Given the description of an element on the screen output the (x, y) to click on. 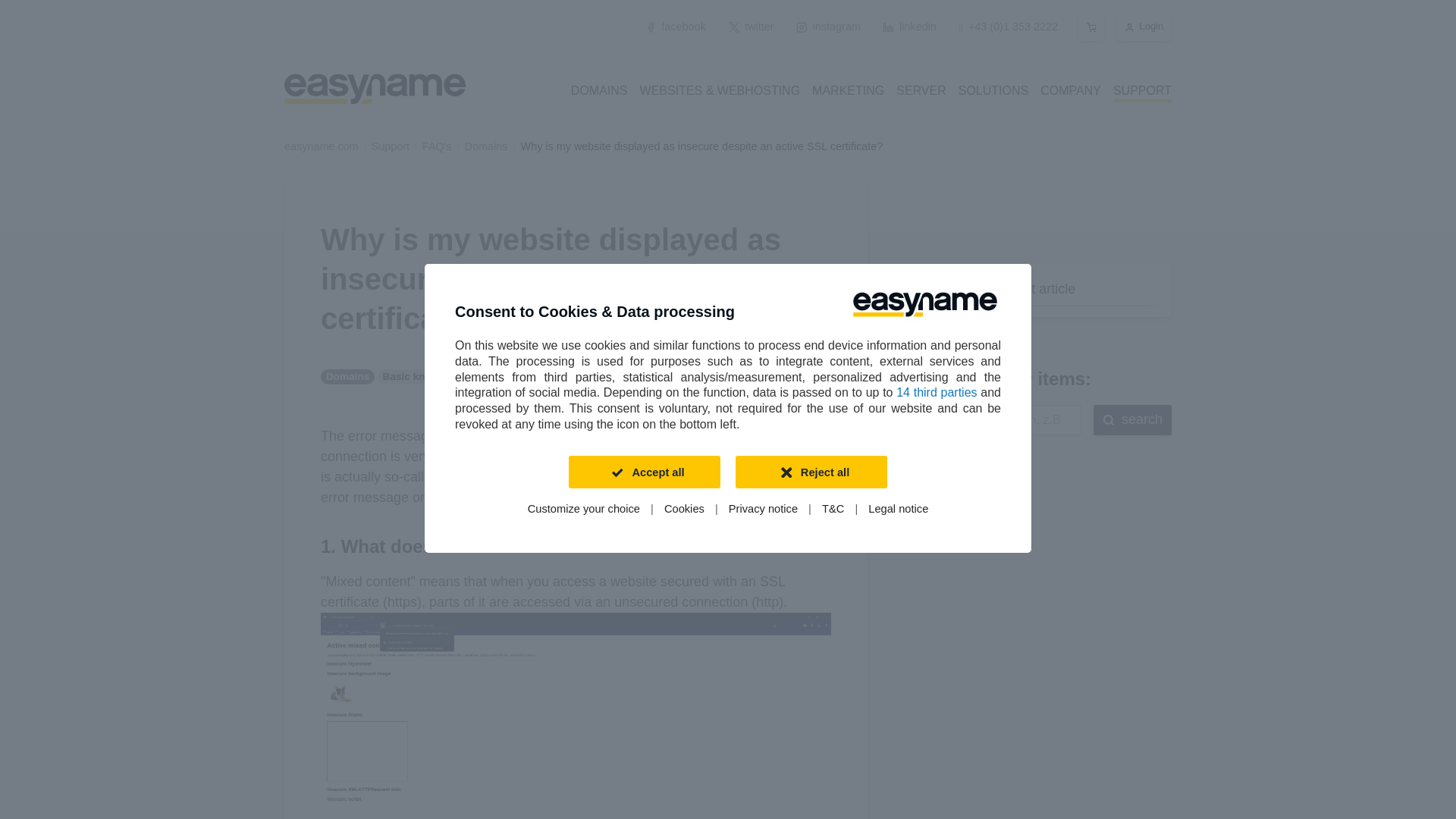
linkedin (909, 26)
Login (1144, 26)
Customize your choice (583, 509)
FAQ's (436, 146)
Privacy notice (762, 509)
twitter (751, 26)
easyname.com (320, 146)
Support (390, 146)
instagram (827, 26)
14 third parties (936, 391)
Domains (486, 146)
Cookies (683, 509)
Legal notice (898, 509)
Reject all (810, 471)
